Given the description of an element on the screen output the (x, y) to click on. 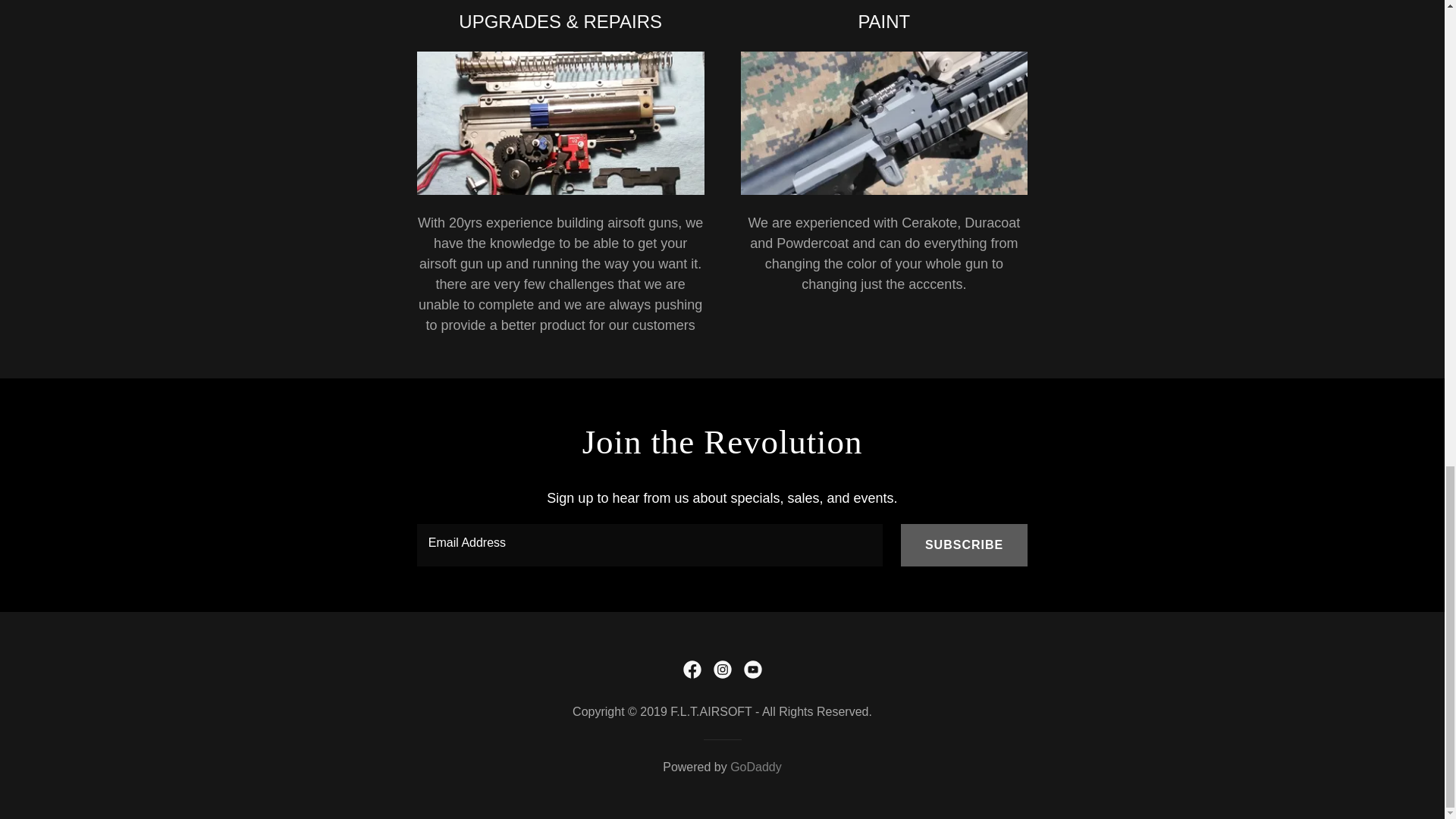
SUBSCRIBE (964, 544)
GoDaddy (755, 766)
